Given the description of an element on the screen output the (x, y) to click on. 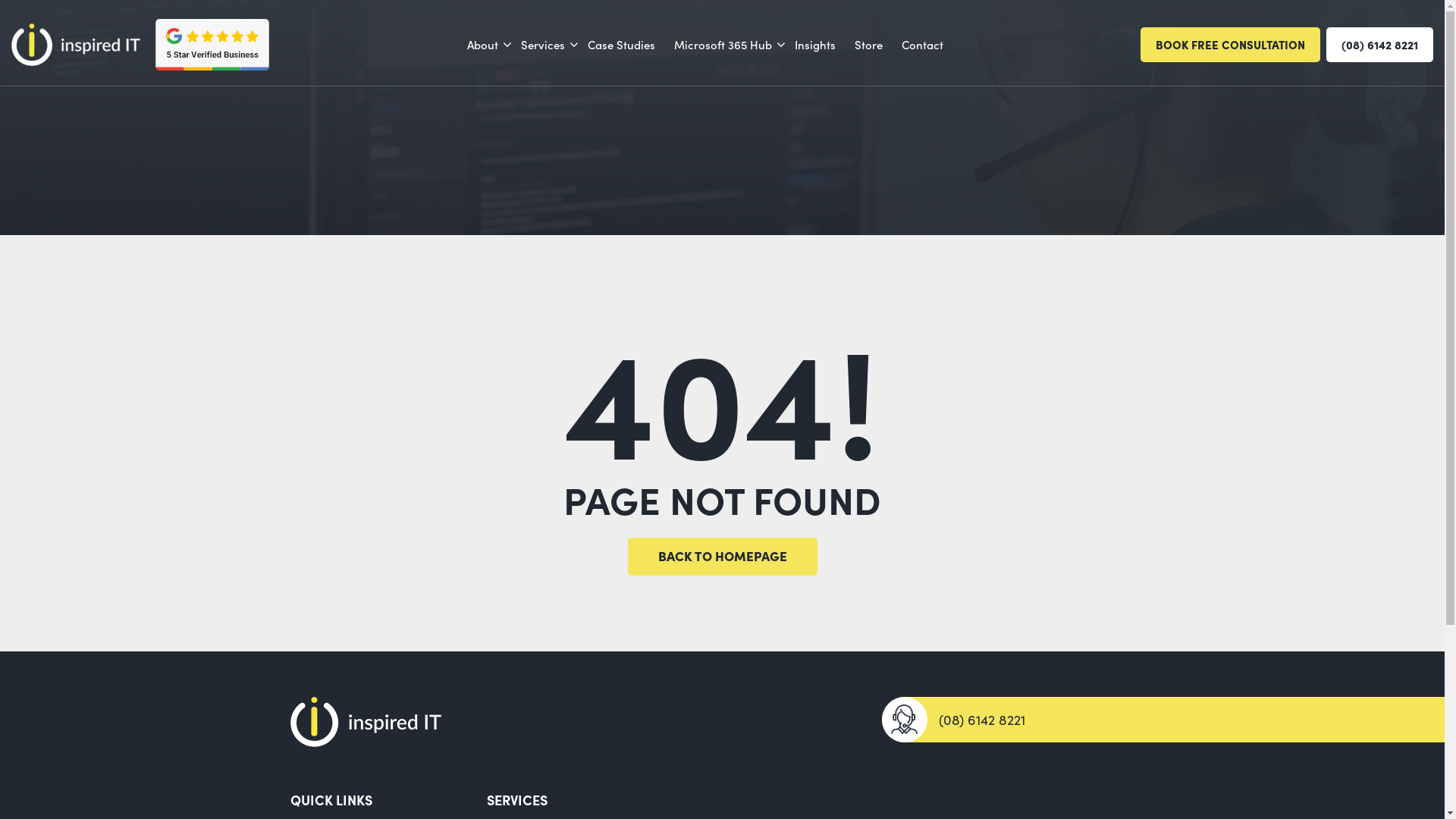
Store Element type: text (867, 44)
BOOK FREE CONSULTATION Element type: text (1230, 44)
About Element type: text (482, 44)
Contact Element type: text (921, 44)
Microsoft 365 Hub Element type: text (721, 44)
BACK TO HOMEPAGE Element type: text (722, 556)
(08) 6142 8221 Element type: text (1379, 44)
Case Studies Element type: text (620, 44)
Insights Element type: text (815, 44)
Services Element type: text (541, 44)
(08) 6142 8221 Element type: text (1017, 718)
